Given the description of an element on the screen output the (x, y) to click on. 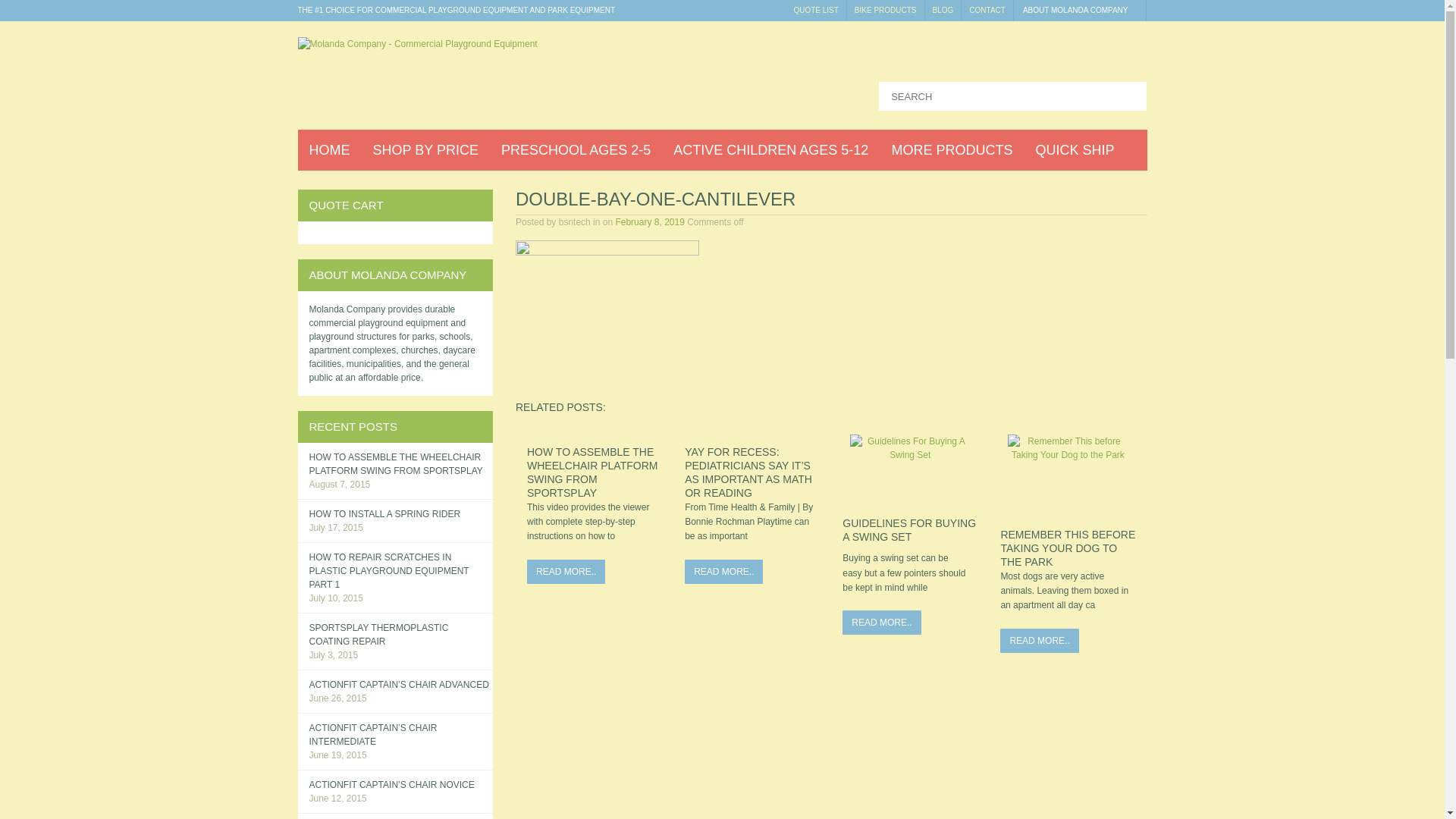
BIKE PRODUCTS (885, 10)
QUOTE LIST (815, 10)
Molanda Company - Commercial Playground Equipment (417, 43)
BLOG (943, 10)
CONTACT (986, 10)
